Given the description of an element on the screen output the (x, y) to click on. 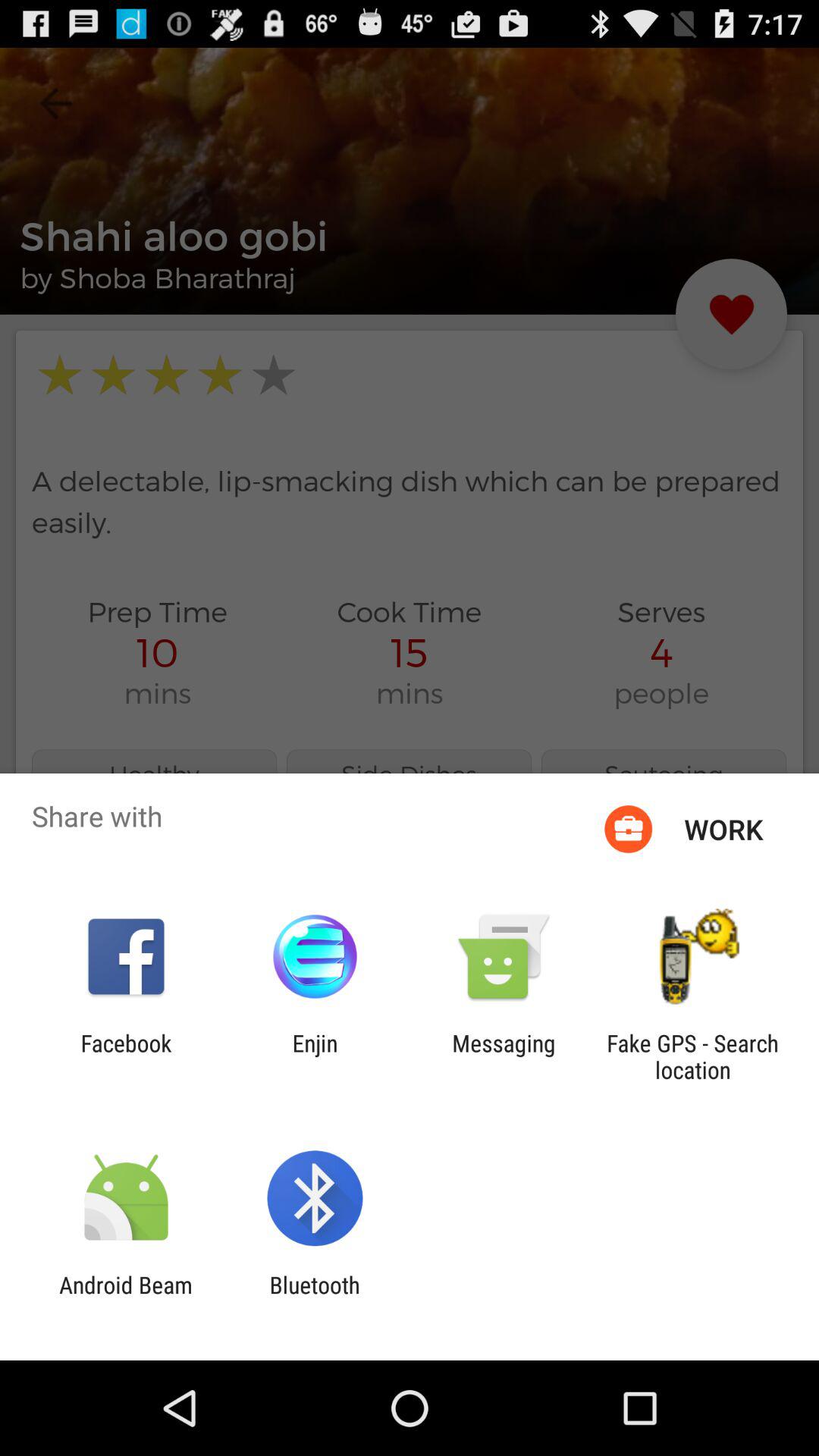
press icon next to the messaging item (314, 1056)
